Given the description of an element on the screen output the (x, y) to click on. 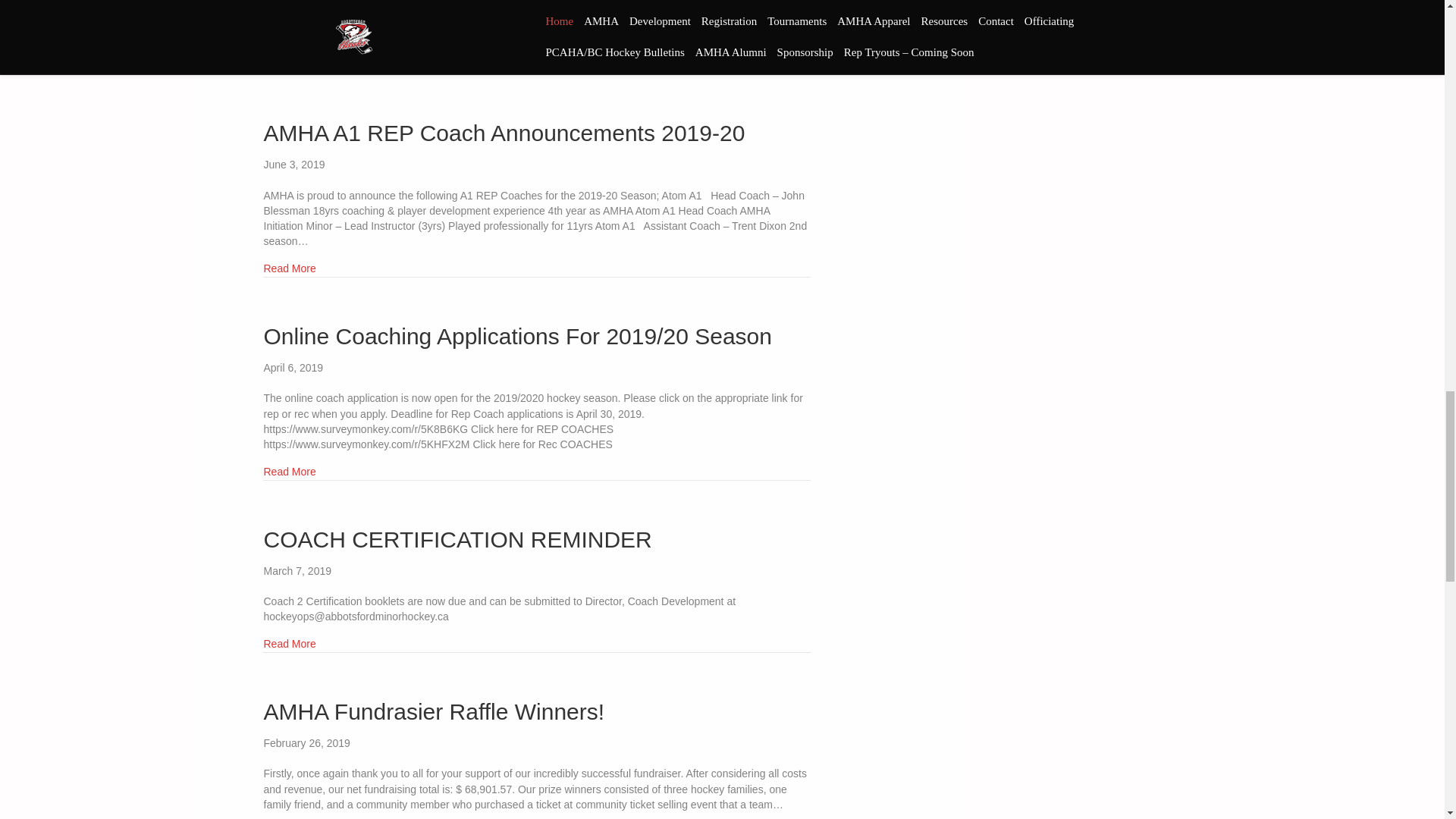
AMHA A1 REP Coach Announcements 2019-20 (504, 132)
AMHA A1 REP Coach Announcements 2019-20 (289, 268)
COACH CERTIFICATION REMINDER (457, 539)
Presidents message June 2019 (289, 64)
